Given the description of an element on the screen output the (x, y) to click on. 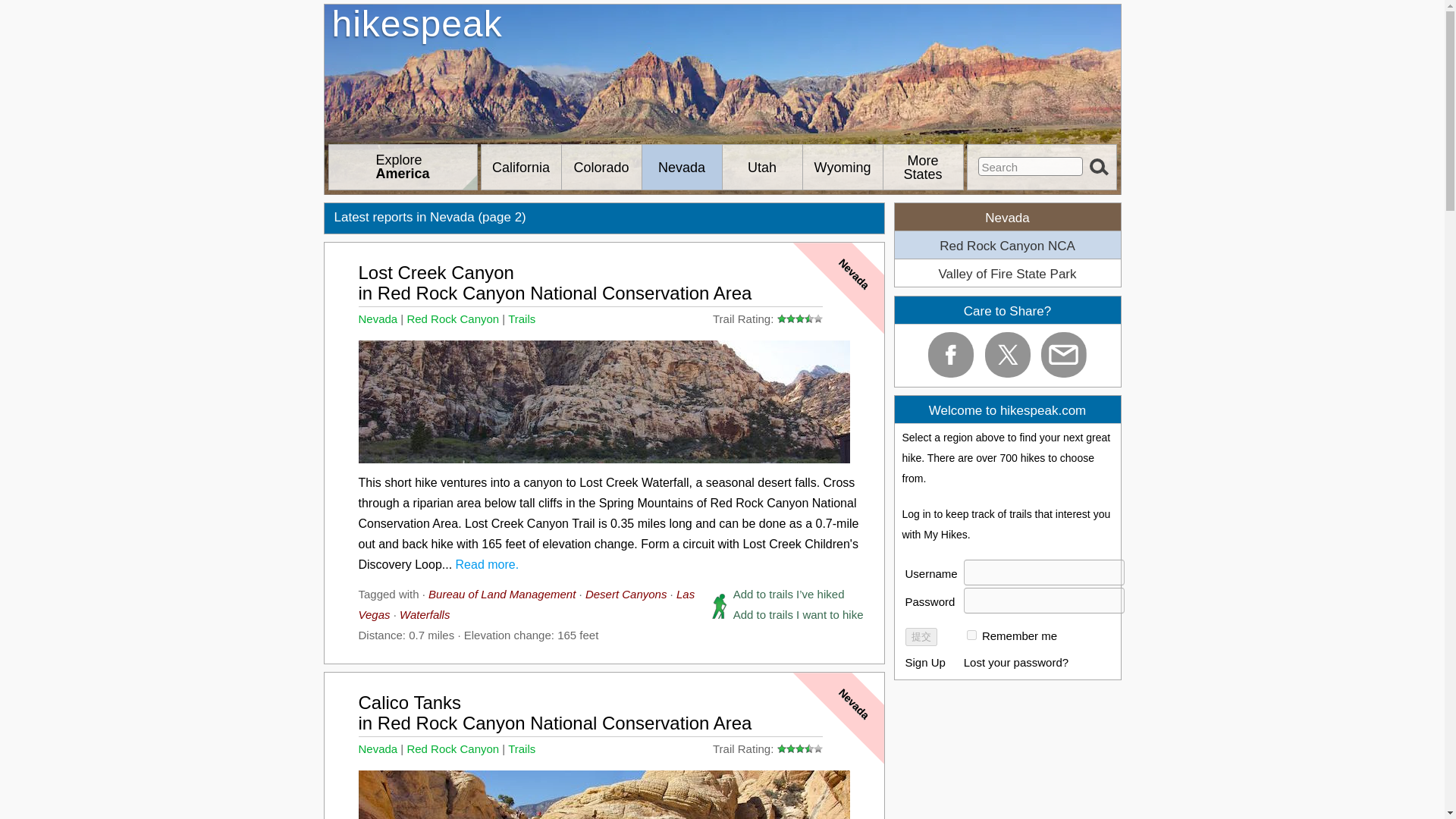
Nevada (681, 166)
More States (922, 166)
Find hikes on hikespeak (722, 70)
Hikes in Nevada (681, 166)
Hikes in Colorado (403, 166)
Utah (600, 166)
California (762, 166)
Hikes in the United States of America (520, 166)
Go (403, 166)
Colorado (1099, 169)
Hikes in California (600, 166)
Search (520, 166)
hikespeak (1030, 166)
Wyoming (722, 70)
